Given the description of an element on the screen output the (x, y) to click on. 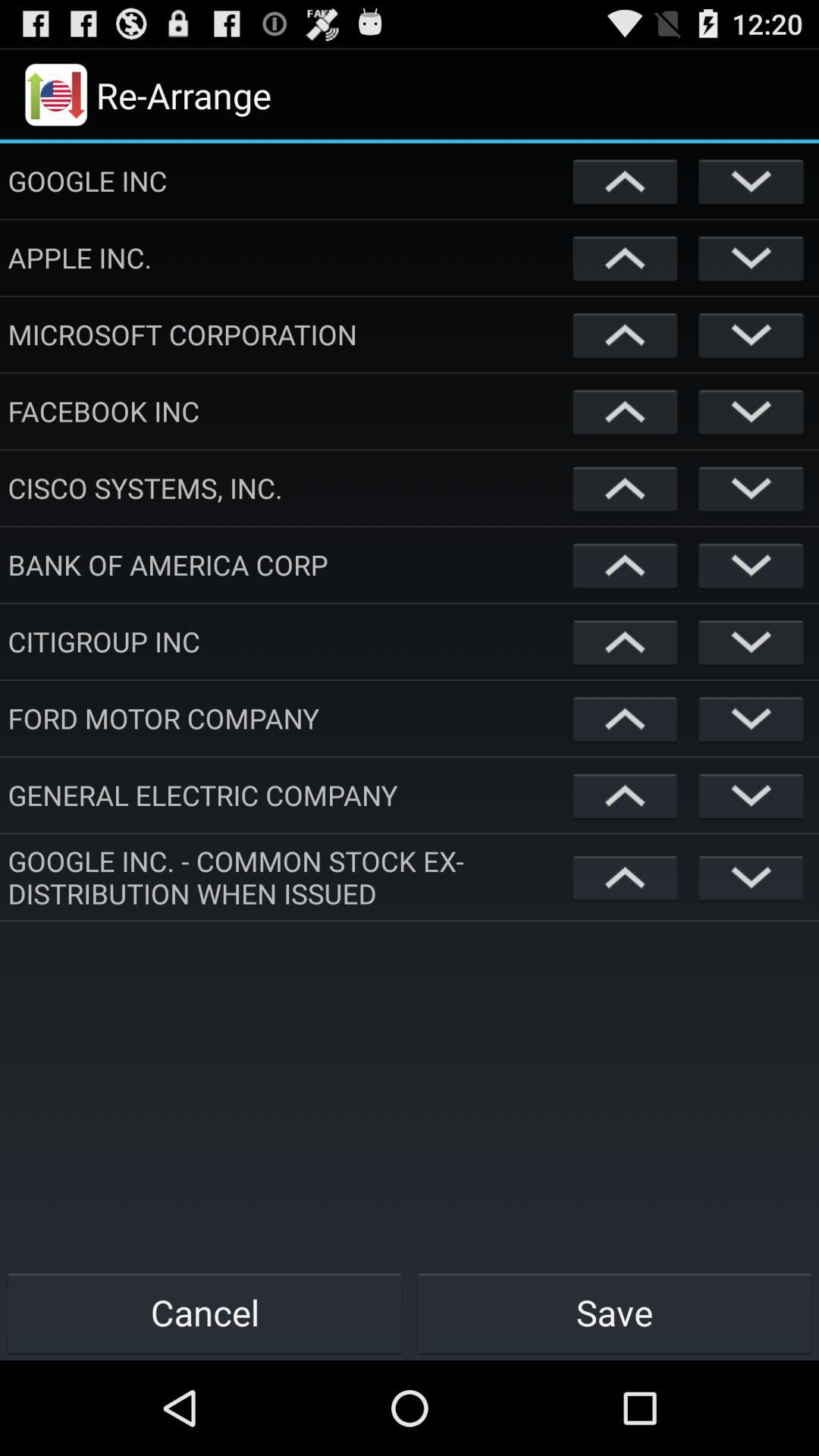
go to option (624, 181)
